Given the description of an element on the screen output the (x, y) to click on. 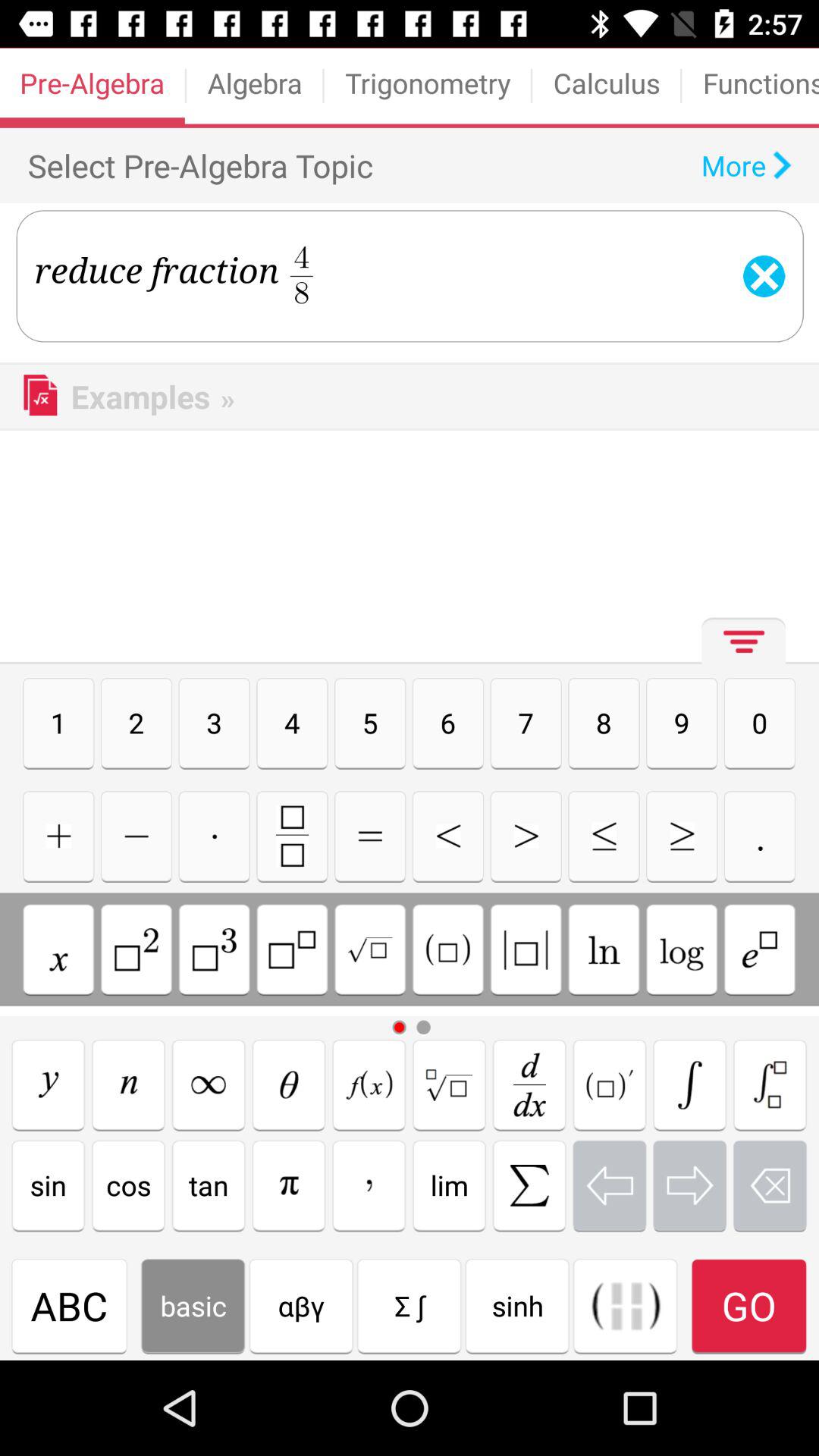
greater than (681, 835)
